Given the description of an element on the screen output the (x, y) to click on. 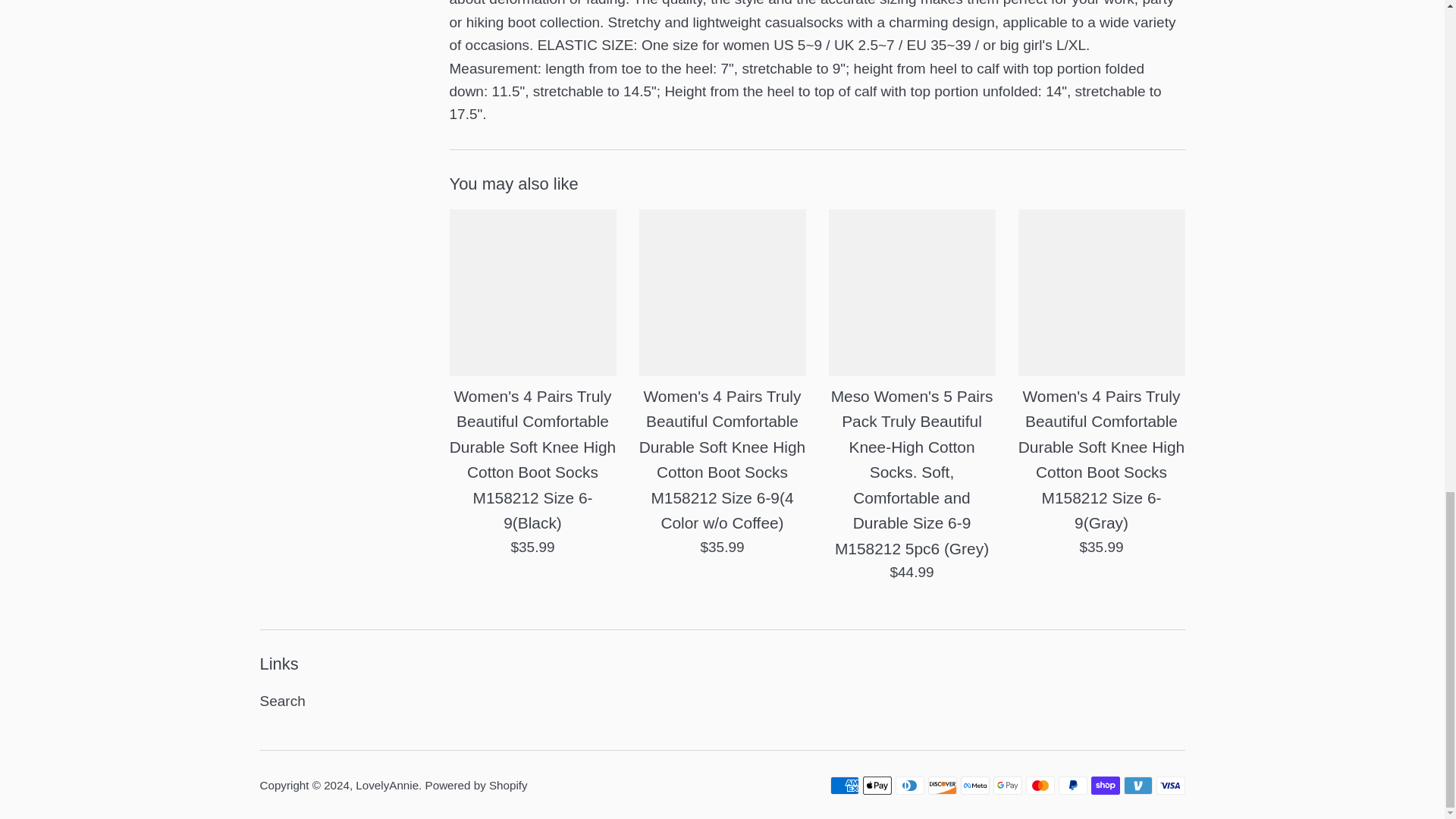
Mastercard (1039, 785)
LovelyAnnie (387, 784)
Apple Pay (877, 785)
Powered by Shopify (476, 784)
Diners Club (909, 785)
Visa (1170, 785)
Google Pay (1007, 785)
Discover (942, 785)
Venmo (1138, 785)
Shop Pay (1104, 785)
